Given the description of an element on the screen output the (x, y) to click on. 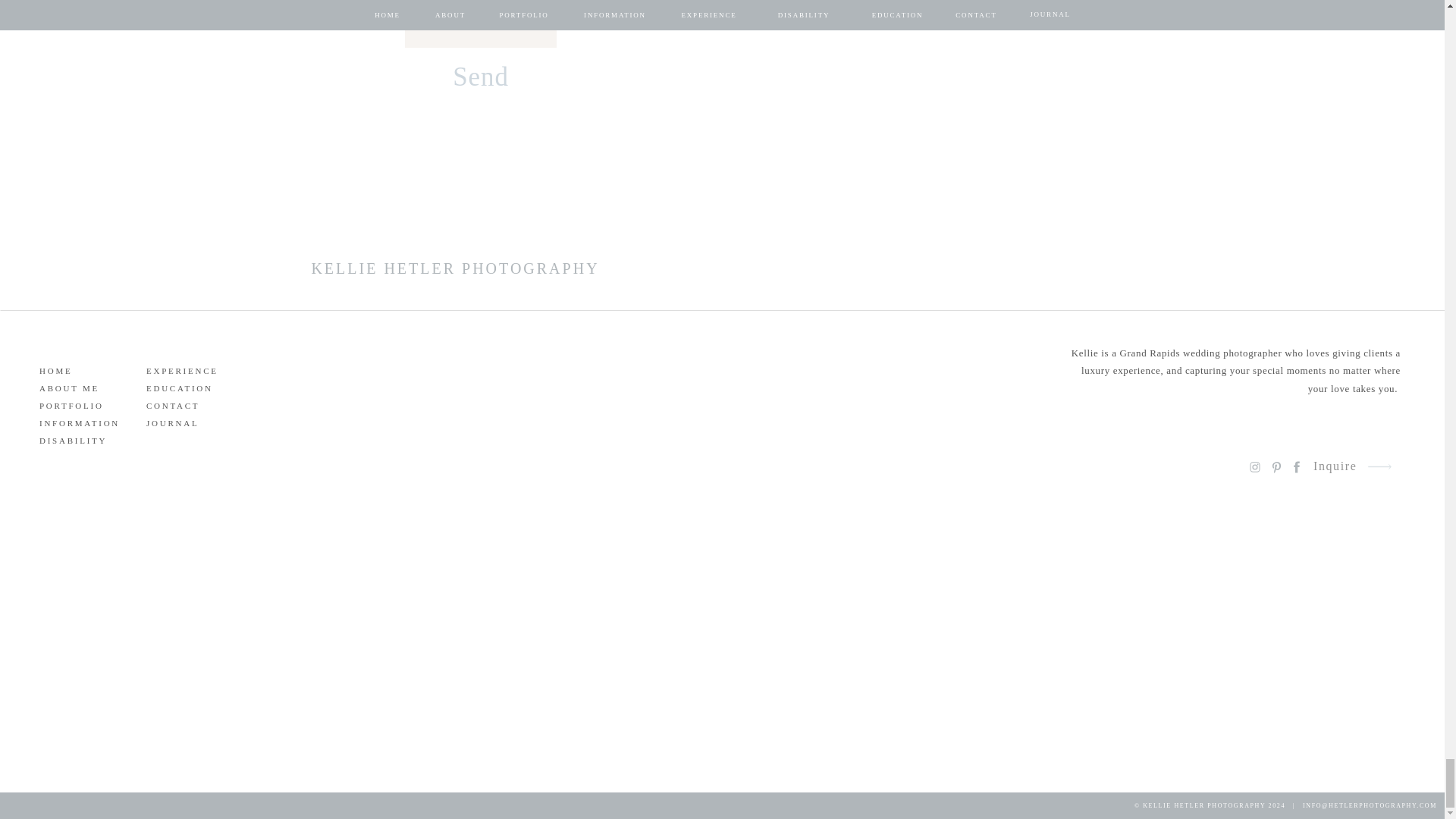
arrow (1379, 466)
